Given the description of an element on the screen output the (x, y) to click on. 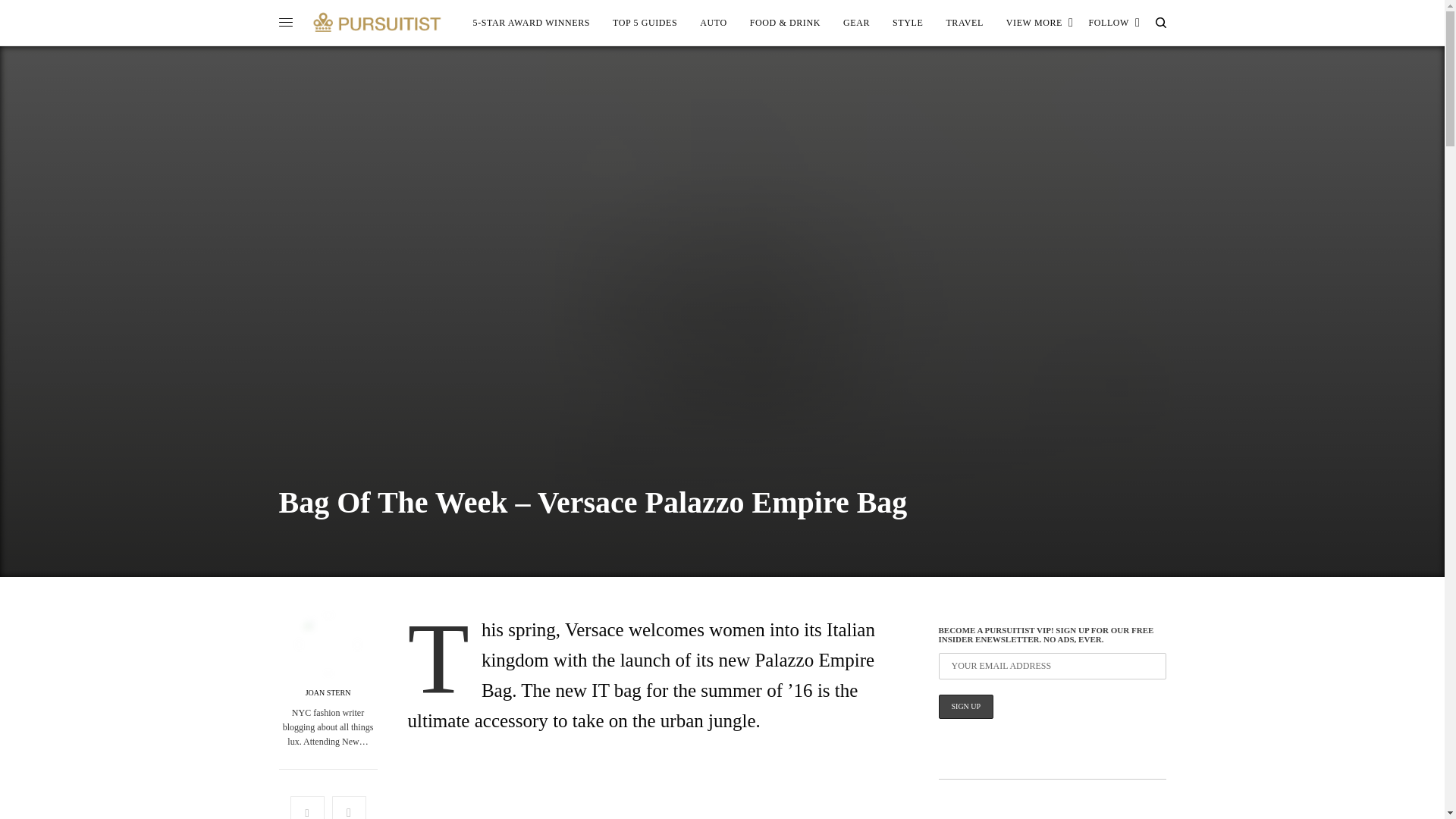
FOLLOW (1113, 22)
Pursuitist (376, 22)
JOAN STERN (328, 692)
5-STAR AWARD WINNERS (532, 22)
VIEW MORE (1040, 22)
TOP 5 GUIDES (644, 22)
Sign up (966, 706)
5-Star Pursuits (532, 22)
